Given the description of an element on the screen output the (x, y) to click on. 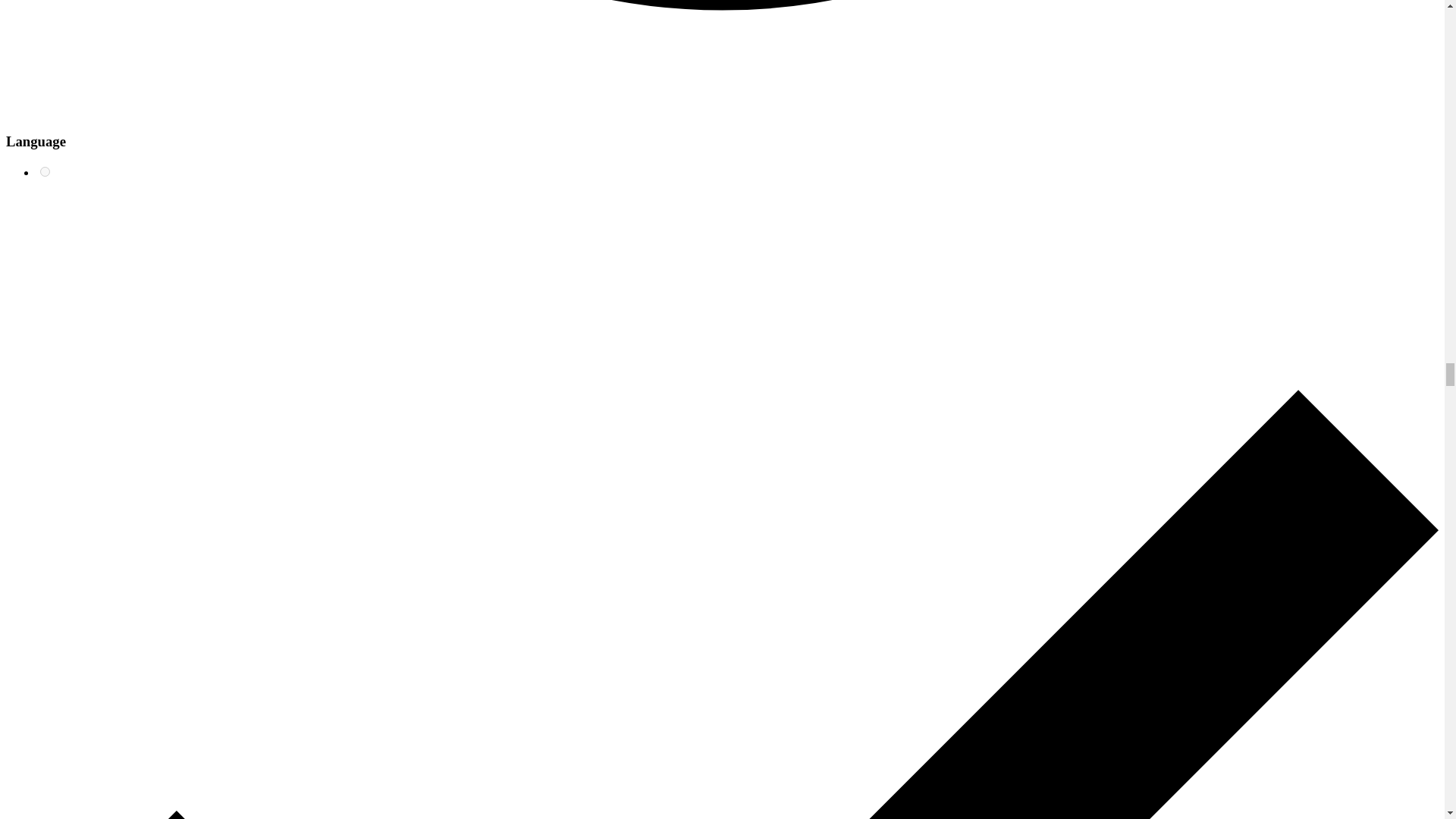
1 (44, 171)
